Given the description of an element on the screen output the (x, y) to click on. 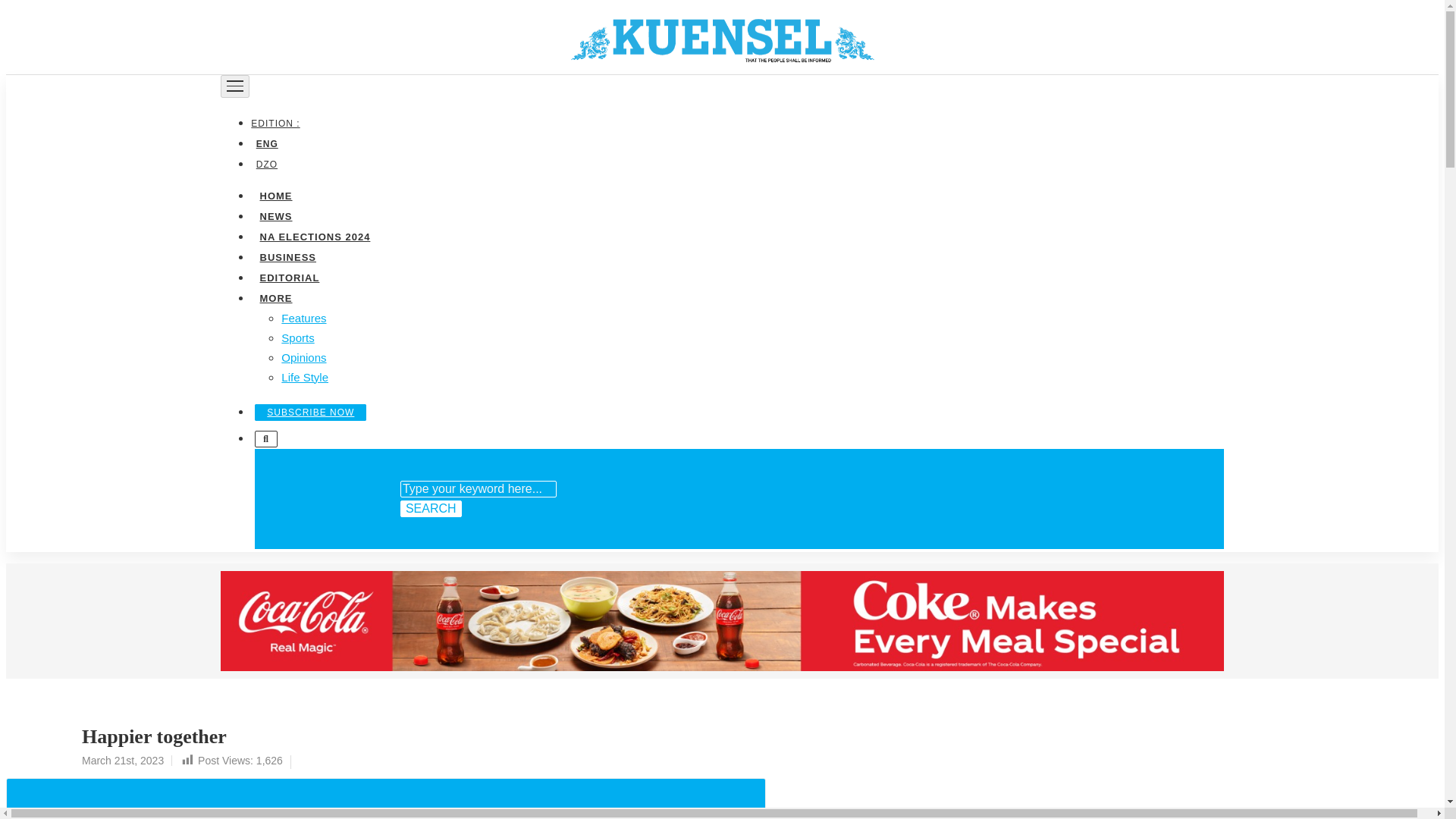
Life Style (305, 376)
Features (303, 317)
NEWS (274, 215)
ENG (266, 143)
SEARCH (430, 508)
EDITION : (277, 122)
Sports (297, 336)
NA ELECTIONS 2024 (314, 235)
EDITORIAL (288, 276)
HOME (274, 194)
SUBSCRIBE NOW (310, 411)
MORE (274, 297)
Opinions (303, 356)
BUSINESS (287, 256)
DZO (266, 163)
